Given the description of an element on the screen output the (x, y) to click on. 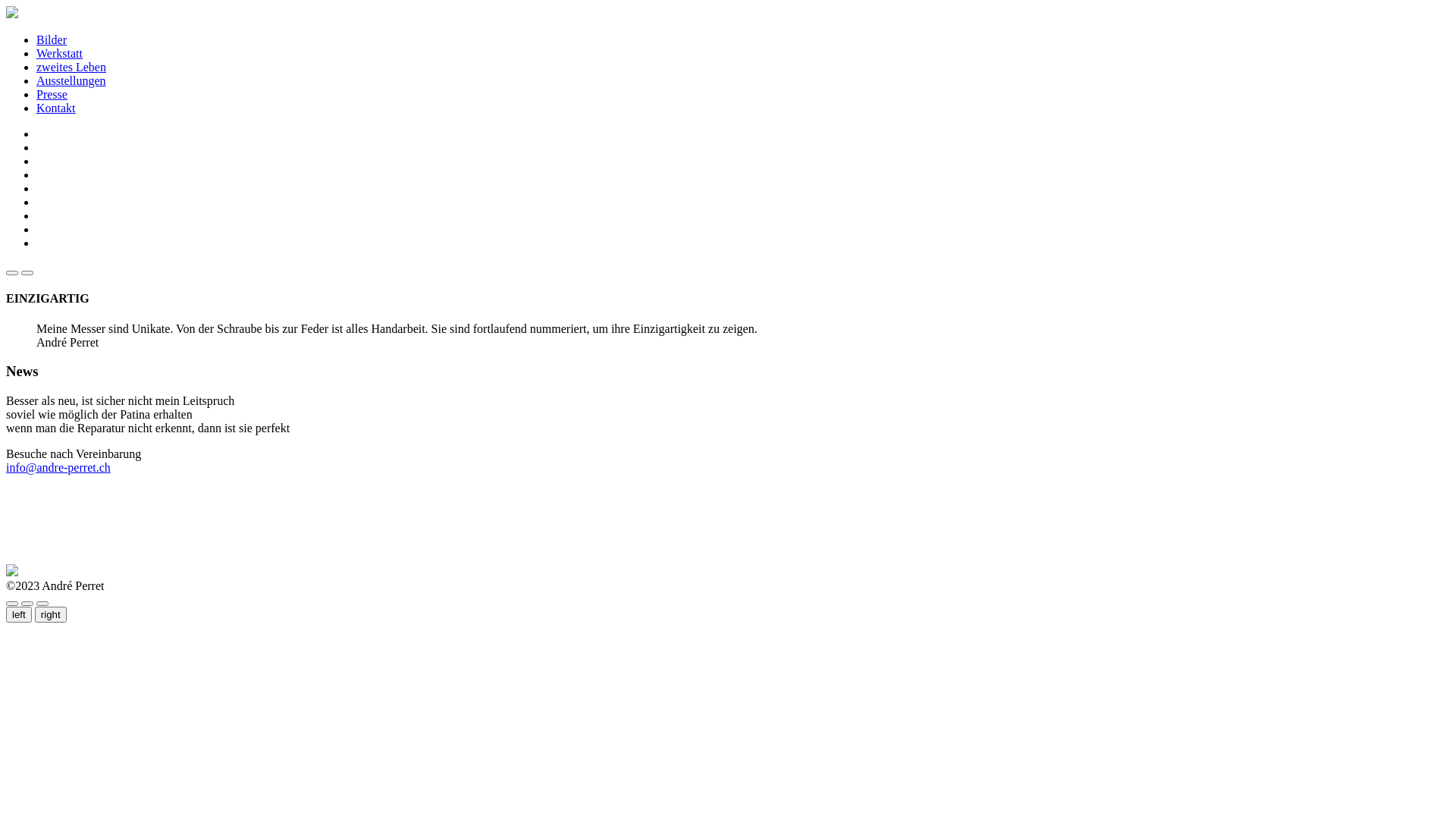
Presse Element type: text (51, 93)
left Element type: text (18, 614)
Ausstellungen Element type: text (71, 80)
Toggle fullscreen Element type: hover (27, 603)
Werkstatt Element type: text (59, 53)
info@andre-perret.ch Element type: text (58, 467)
right Element type: text (50, 614)
Zoom in/out Element type: hover (42, 603)
Close (Esc) Element type: hover (12, 603)
Bilder Element type: text (51, 39)
zweites Leben Element type: text (71, 66)
Kontakt Element type: text (55, 107)
